Given the description of an element on the screen output the (x, y) to click on. 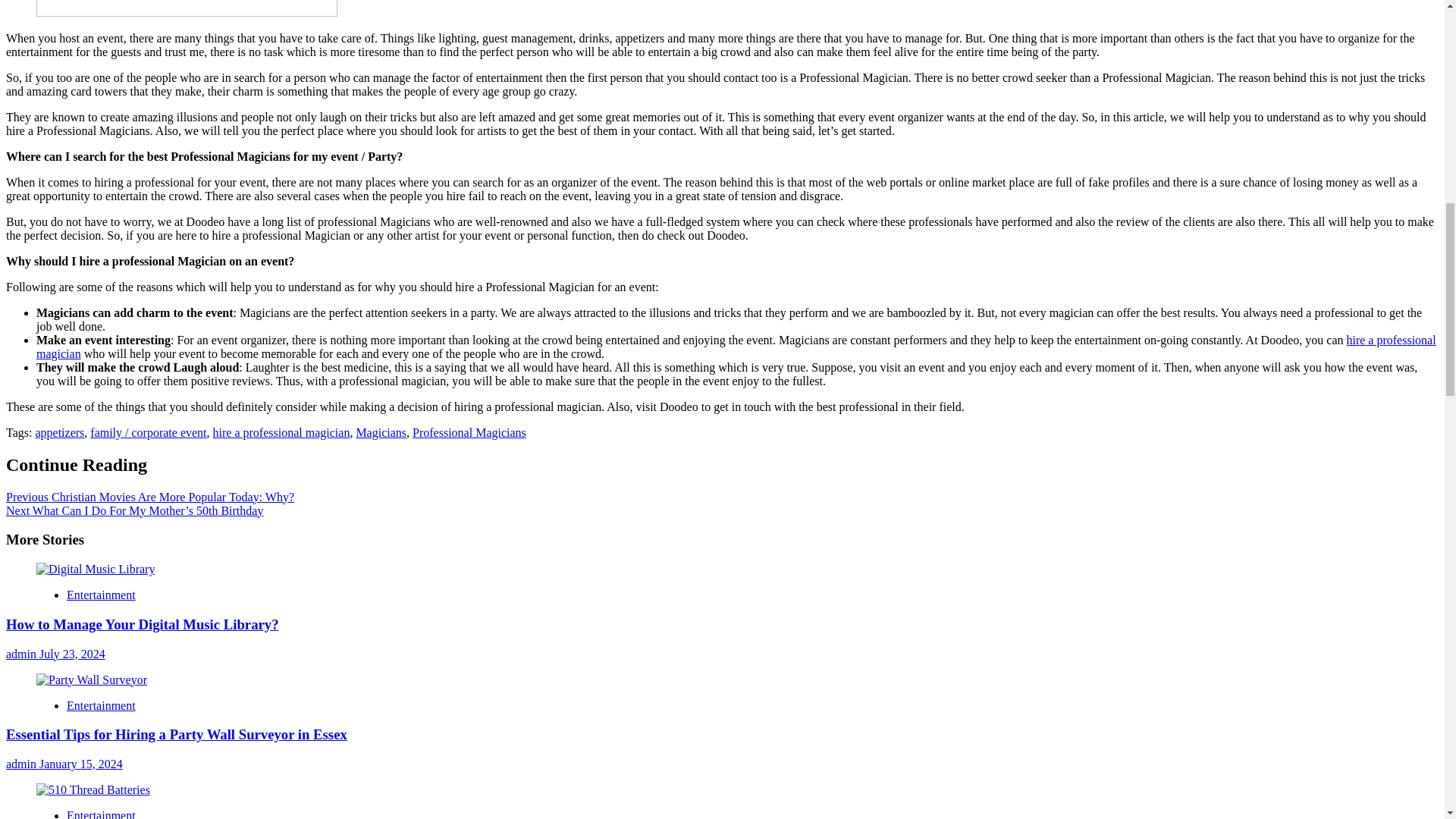
appetizers (59, 431)
